Given the description of an element on the screen output the (x, y) to click on. 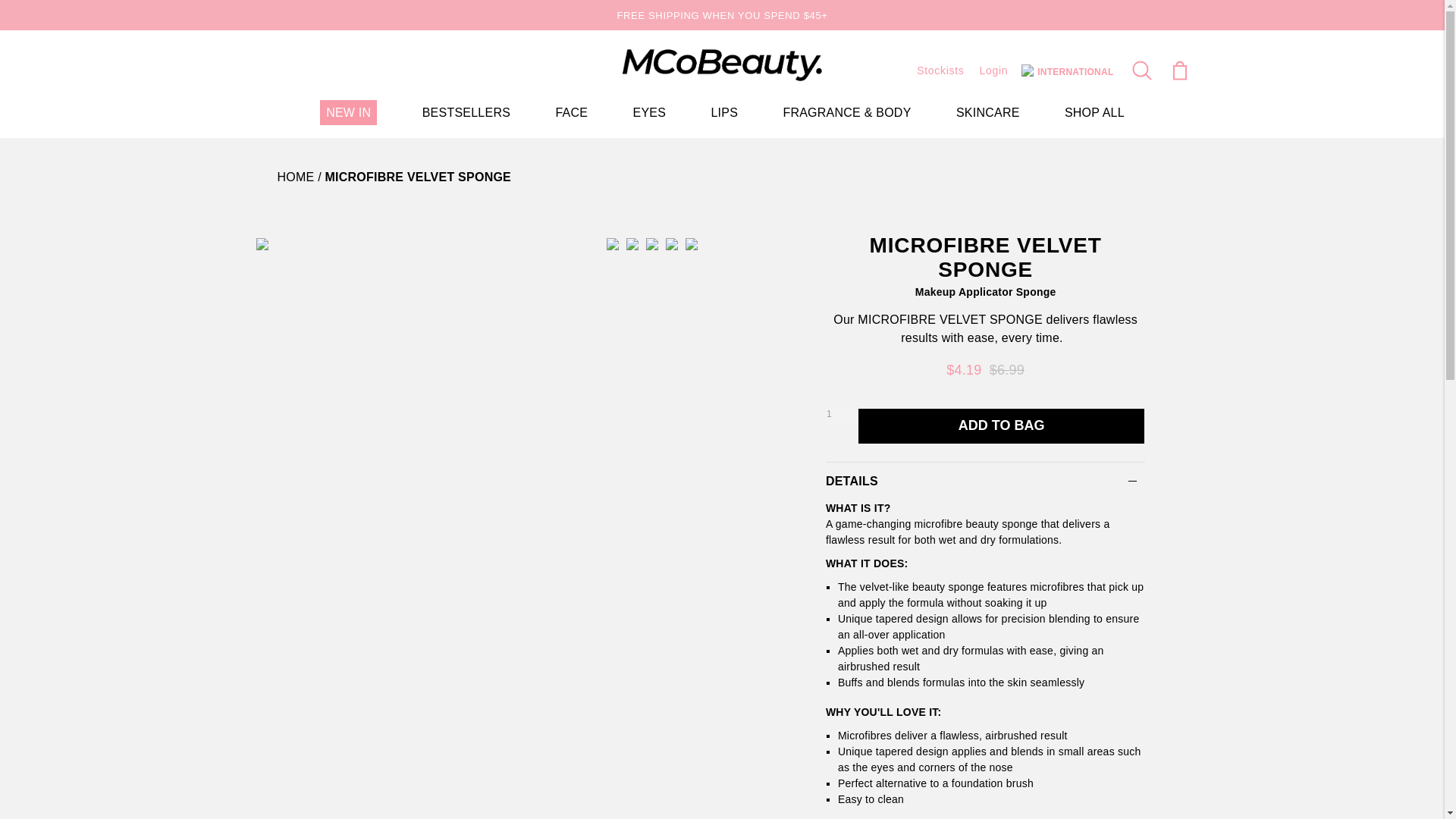
FACE (571, 112)
LIPS (724, 112)
SKINCARE (988, 112)
NEW IN (348, 112)
Home (296, 176)
EYES (648, 112)
BESTSELLERS (466, 112)
Stockists (940, 70)
Login (994, 70)
